Given the description of an element on the screen output the (x, y) to click on. 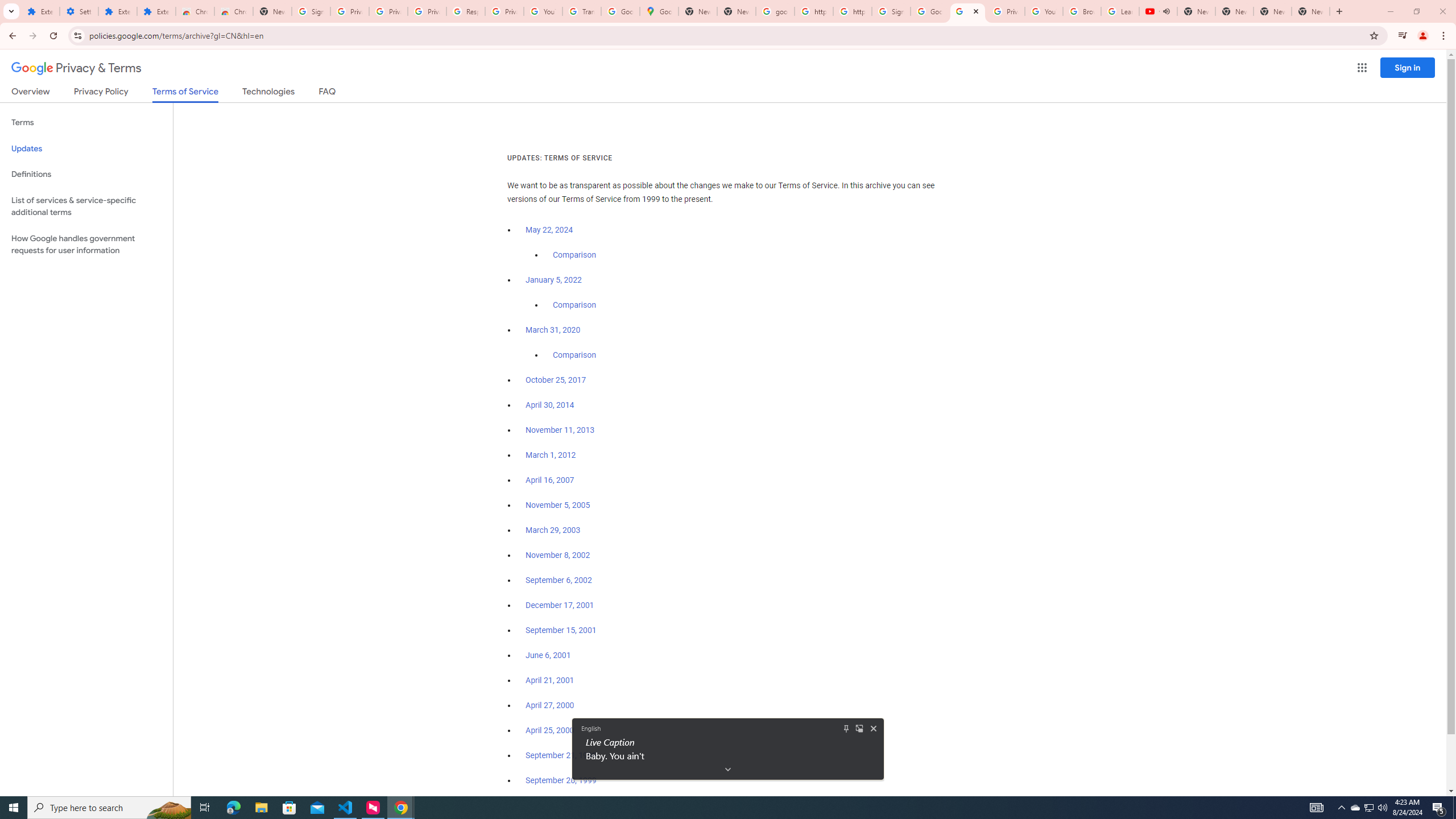
Notification Chevron (1341, 807)
User Promoted Notification Area (1368, 807)
YouTube (542, 11)
November 5, 2005 (557, 505)
Turn off Live Caption for now (873, 728)
YouTube (1043, 11)
Show desktop (1454, 807)
